Given the description of an element on the screen output the (x, y) to click on. 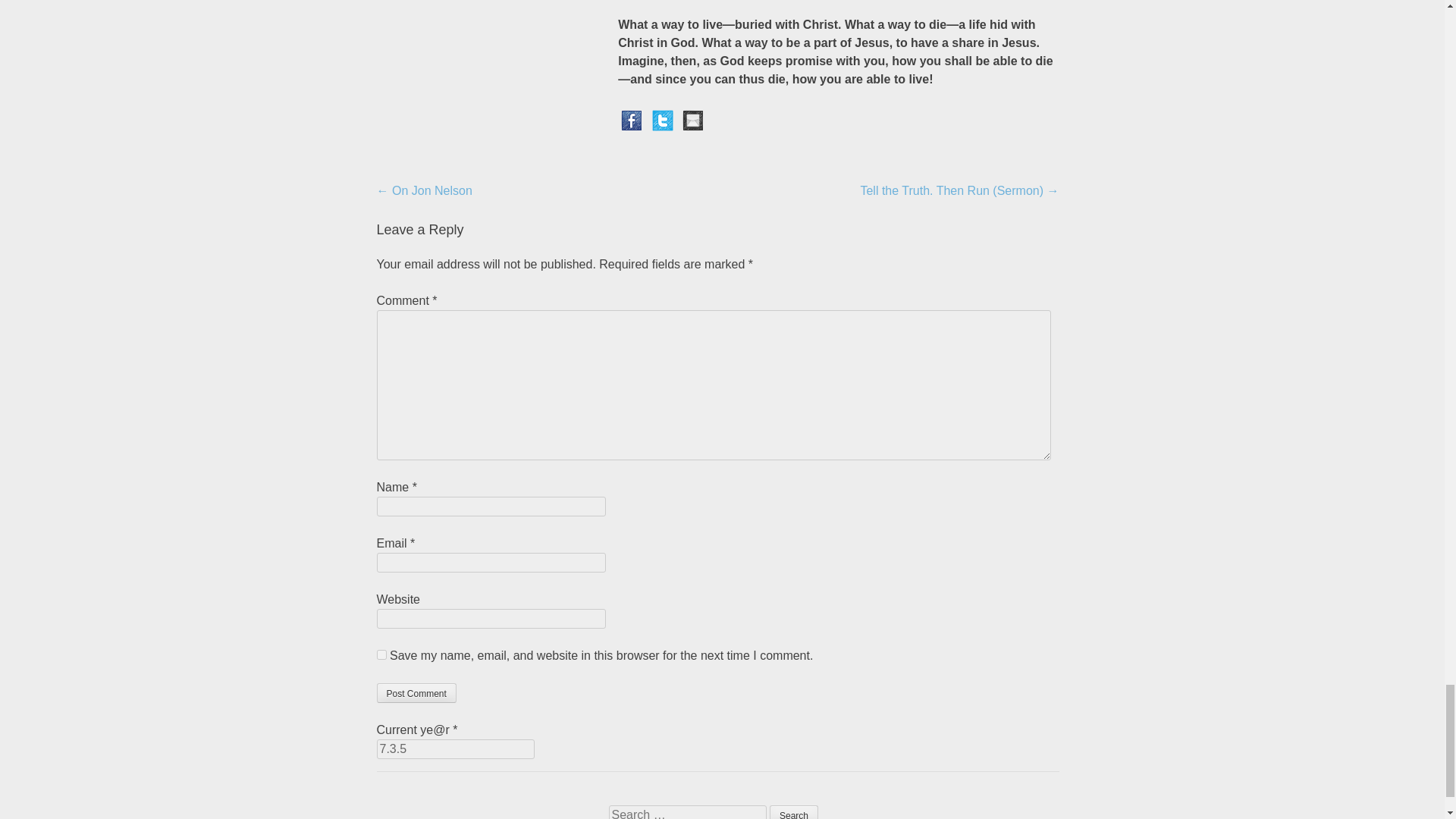
Twitter (663, 119)
Email (692, 119)
7.3.5 (454, 749)
yes (380, 655)
Facebook (631, 119)
Post Comment (415, 692)
Search (794, 812)
